Given the description of an element on the screen output the (x, y) to click on. 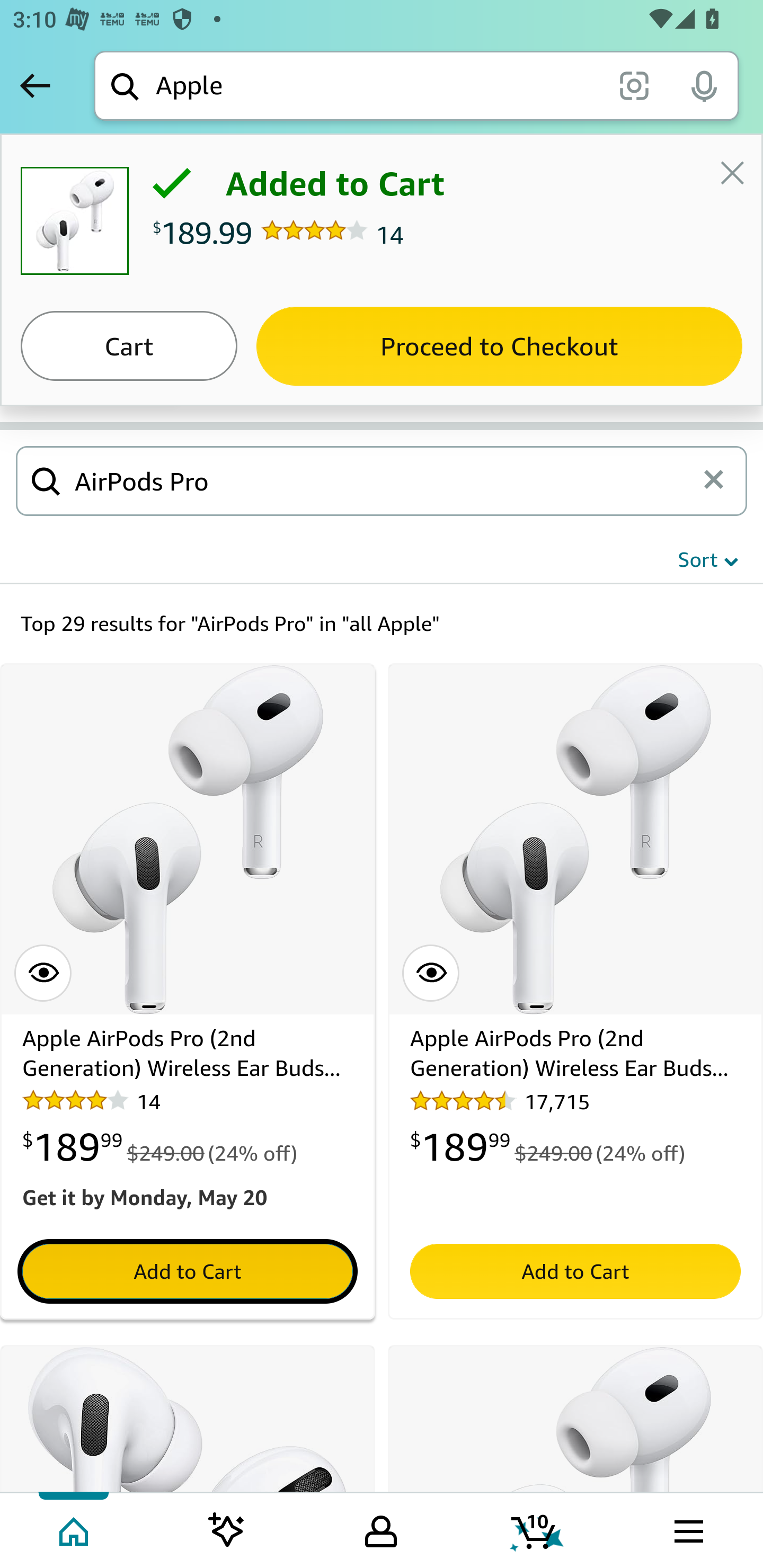
Back (35, 85)
scan it (633, 85)
AirPods Pro (384, 480)
Search (45, 480)
Clear (719, 480)
Sort  Arrow Down (708, 559)
Quick look (42, 973)
Quick look (430, 973)
Add to Cart (187, 1271)
Add to Cart (575, 1271)
Home Tab 1 of 5 (75, 1529)
